Given the description of an element on the screen output the (x, y) to click on. 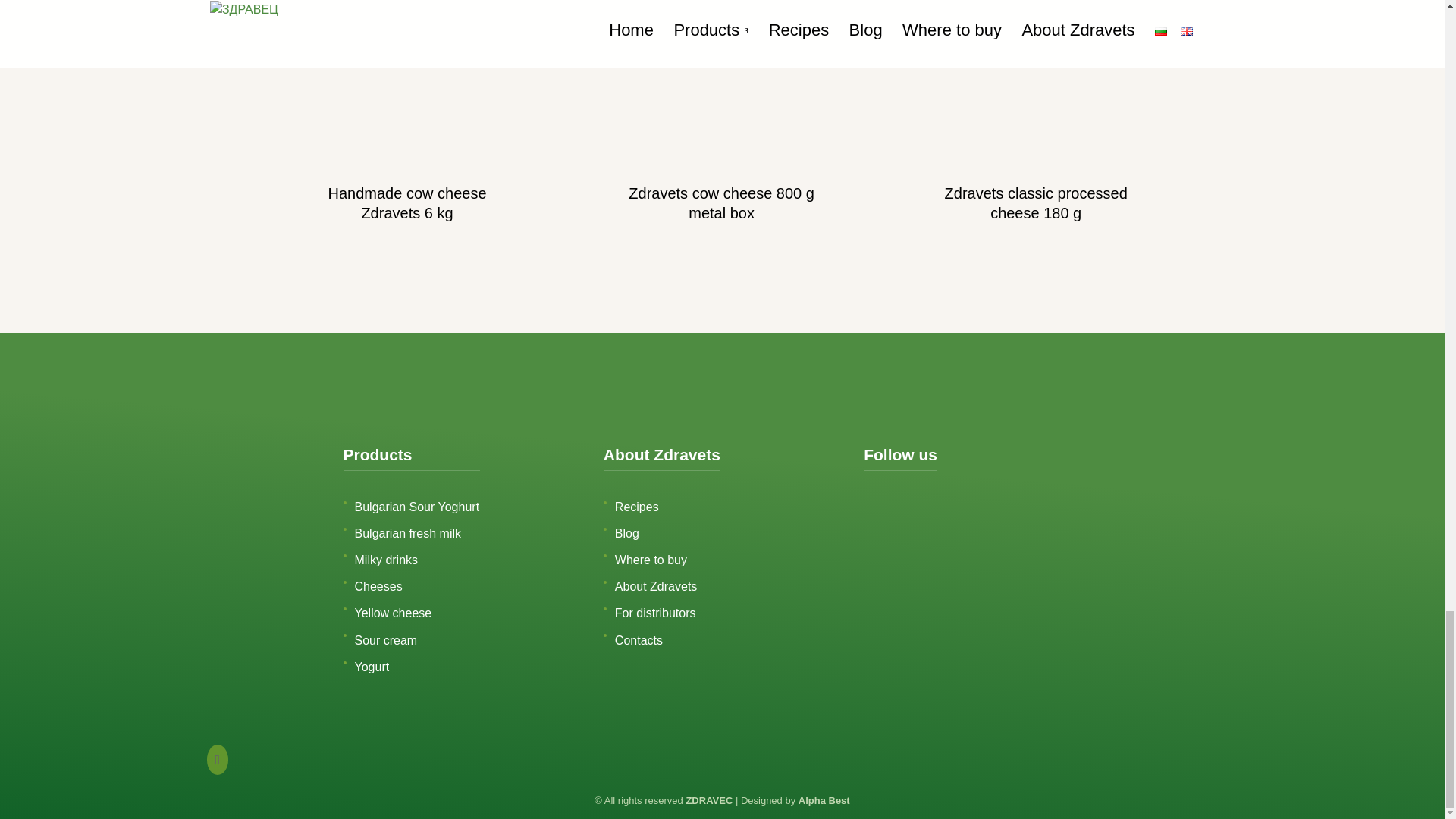
Handmade cow cheese Zdravets 6 kg (406, 115)
Bulgarian Sour Yoghurt (416, 506)
Zdravets cow cheese 800 g metal box (720, 115)
Zdravets classic processed cheese 180 g (1036, 115)
ZDRAVEC (708, 799)
